Given the description of an element on the screen output the (x, y) to click on. 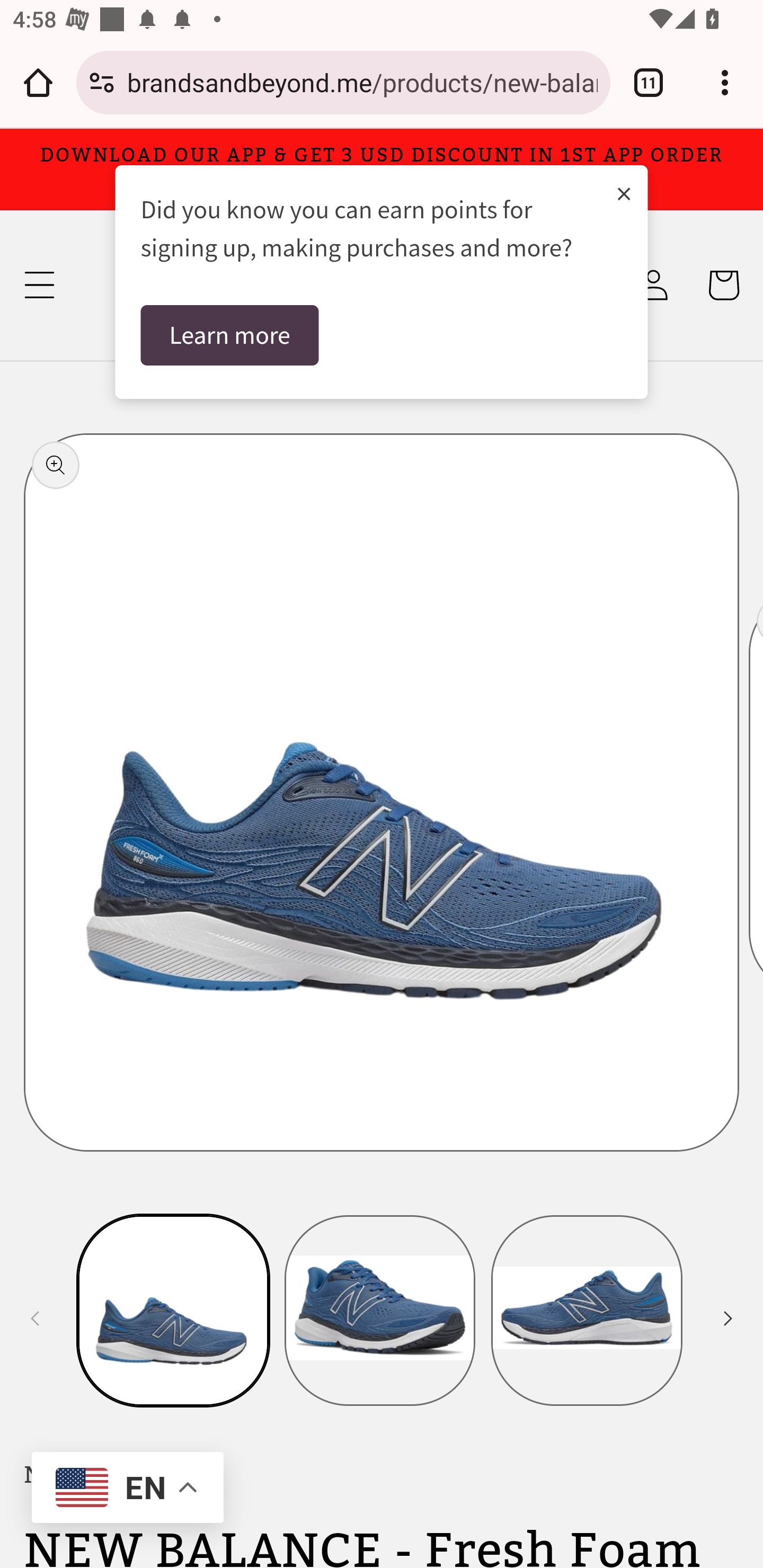
Open the home page (38, 82)
Connection is secure (101, 82)
Switch or close tabs (648, 82)
Customize and control Google Chrome (724, 82)
Menu (39, 285)
Cart (723, 285)
Load image 1 in gallery view (173, 1309)
Load image 2 in gallery view (380, 1309)
Load image 3 in gallery view (587, 1309)
Slide left (35, 1318)
Slide right (727, 1318)
